Given the description of an element on the screen output the (x, y) to click on. 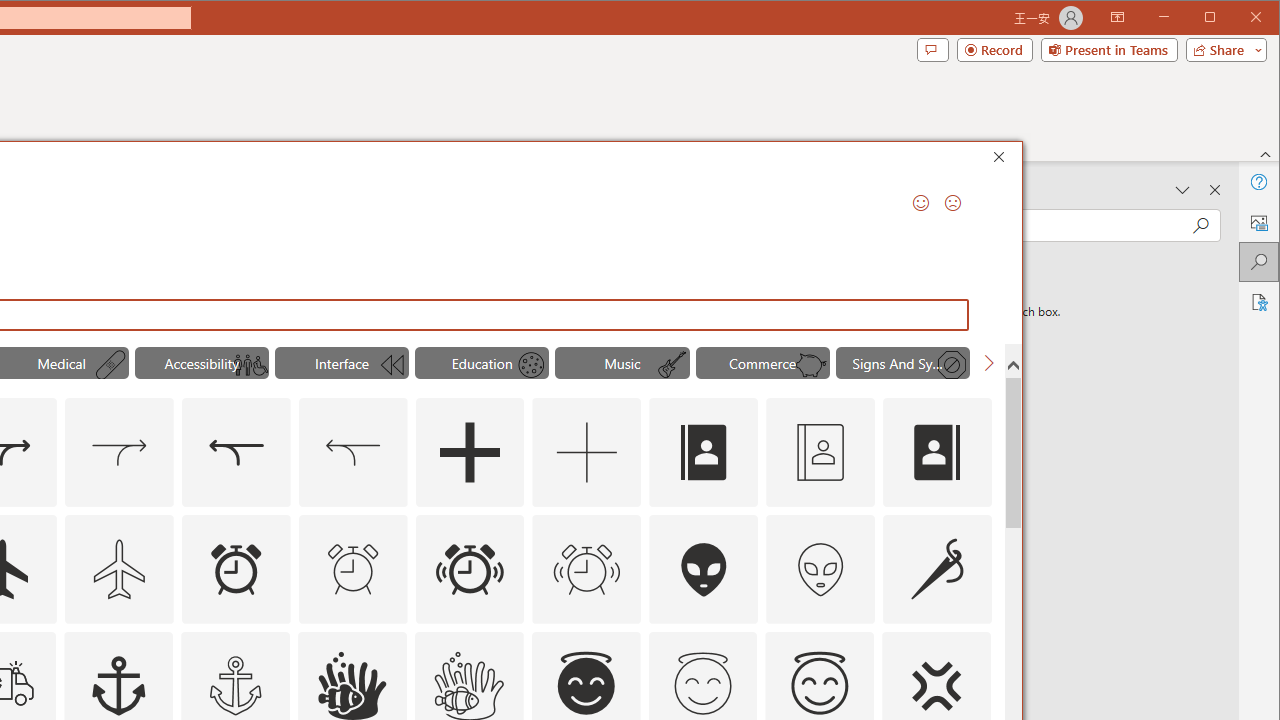
Alt Text (1258, 221)
AutomationID: Icons_AlarmClock (235, 568)
AutomationID: Icons_AlarmRinging_M (586, 568)
Send a Smile (920, 202)
AutomationID: Icons_Acquisition_RTL (235, 452)
Next Search Suggestion (988, 362)
AutomationID: Icons (703, 683)
"Education" Icons. (481, 362)
AutomationID: Icons_Acquisition_LTR_M (118, 452)
outline (819, 686)
AutomationID: Icons_AlterationsTailoring (938, 568)
